Given the description of an element on the screen output the (x, y) to click on. 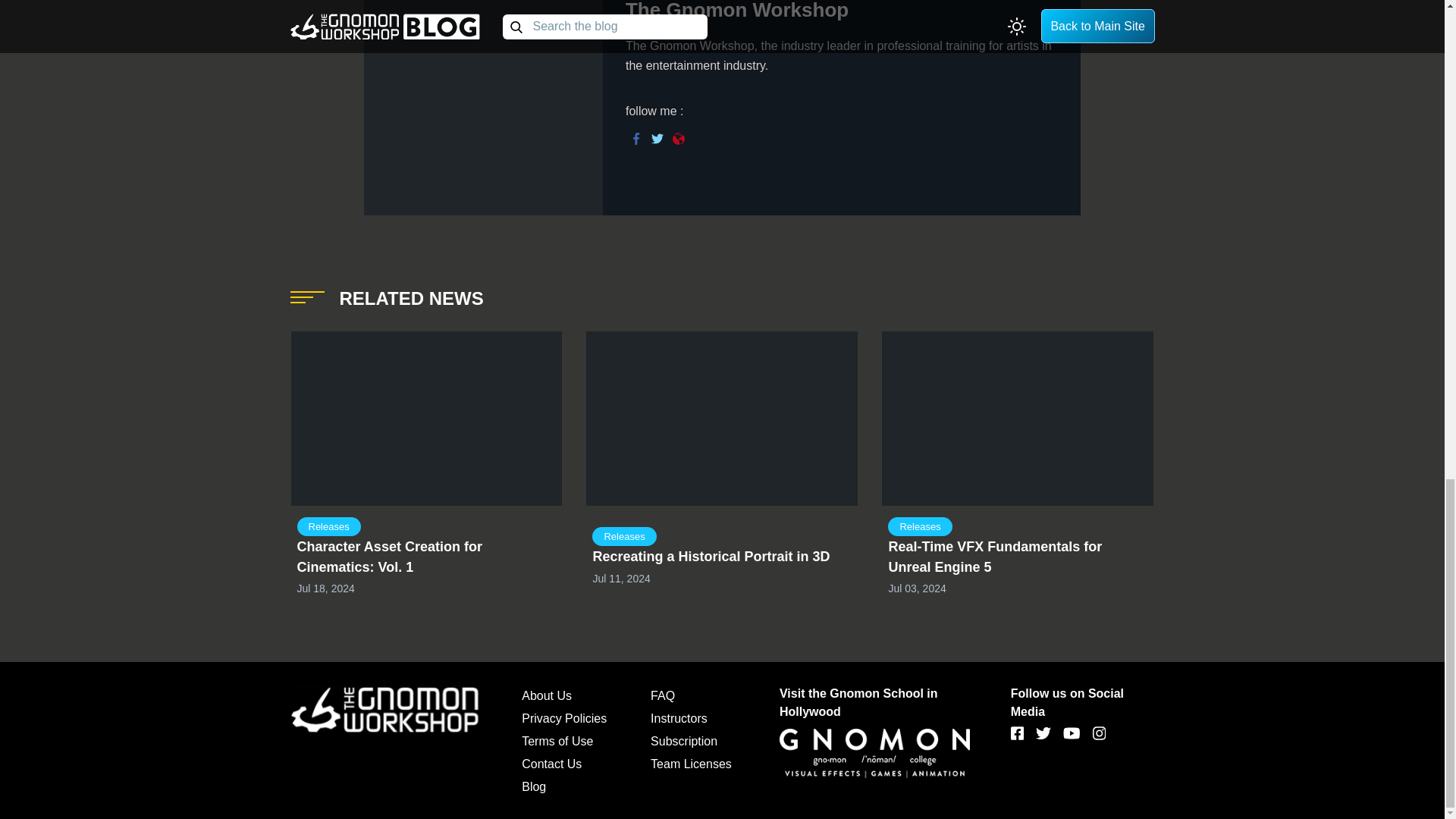
Subscription (683, 740)
Releases (624, 536)
Privacy Policies (564, 717)
Real-Time VFX Fundamentals for Unreal Engine 5 (995, 556)
Releases (329, 526)
Character Asset Creation for Cinematics: Vol. 1 (389, 556)
About Us (546, 695)
Instructors (678, 717)
Releases (920, 526)
The Gnomon Workshop (737, 10)
